Given the description of an element on the screen output the (x, y) to click on. 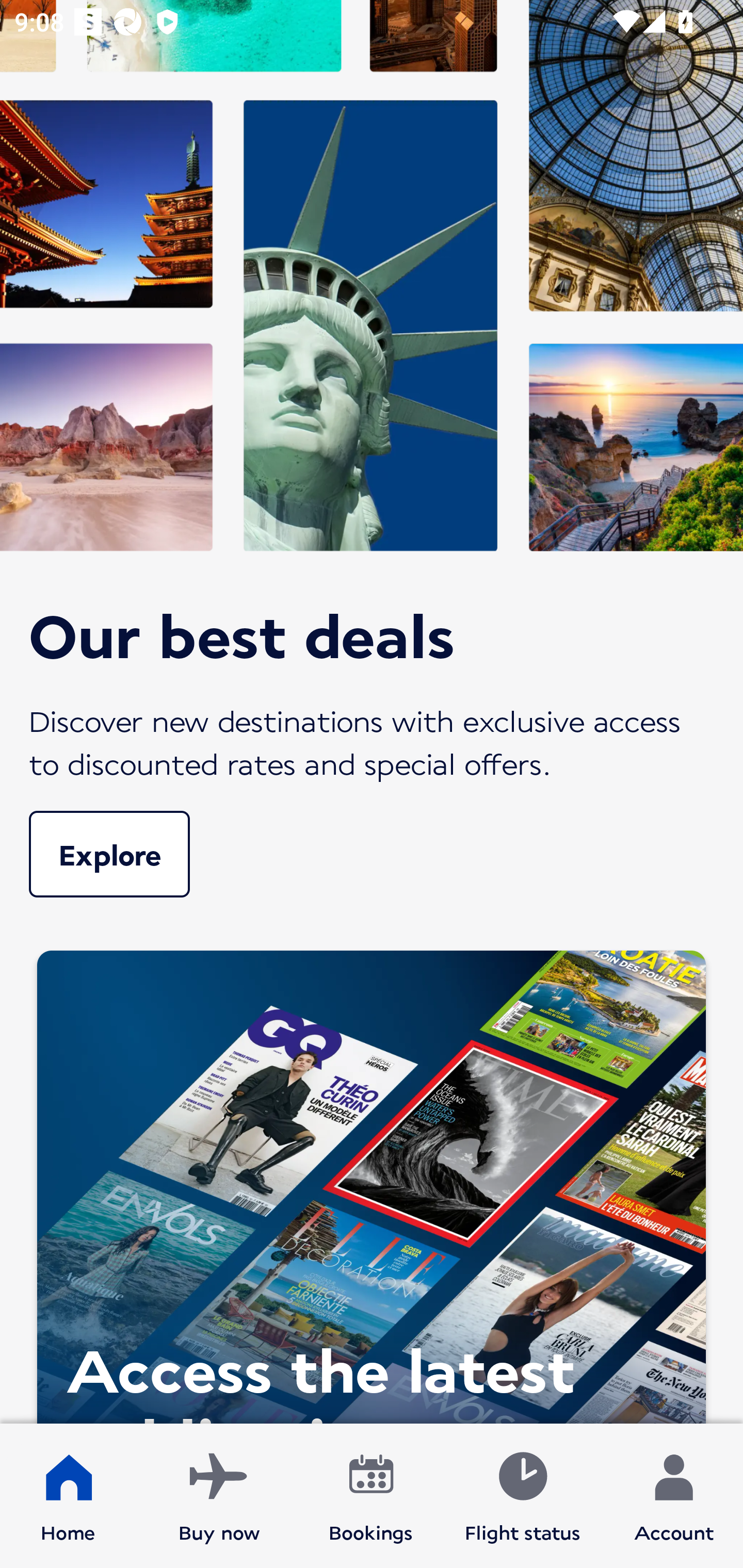
Access the latest publications (371, 1181)
Buy now (219, 1495)
Bookings (370, 1495)
Flight status (522, 1495)
Account (674, 1495)
